Given the description of an element on the screen output the (x, y) to click on. 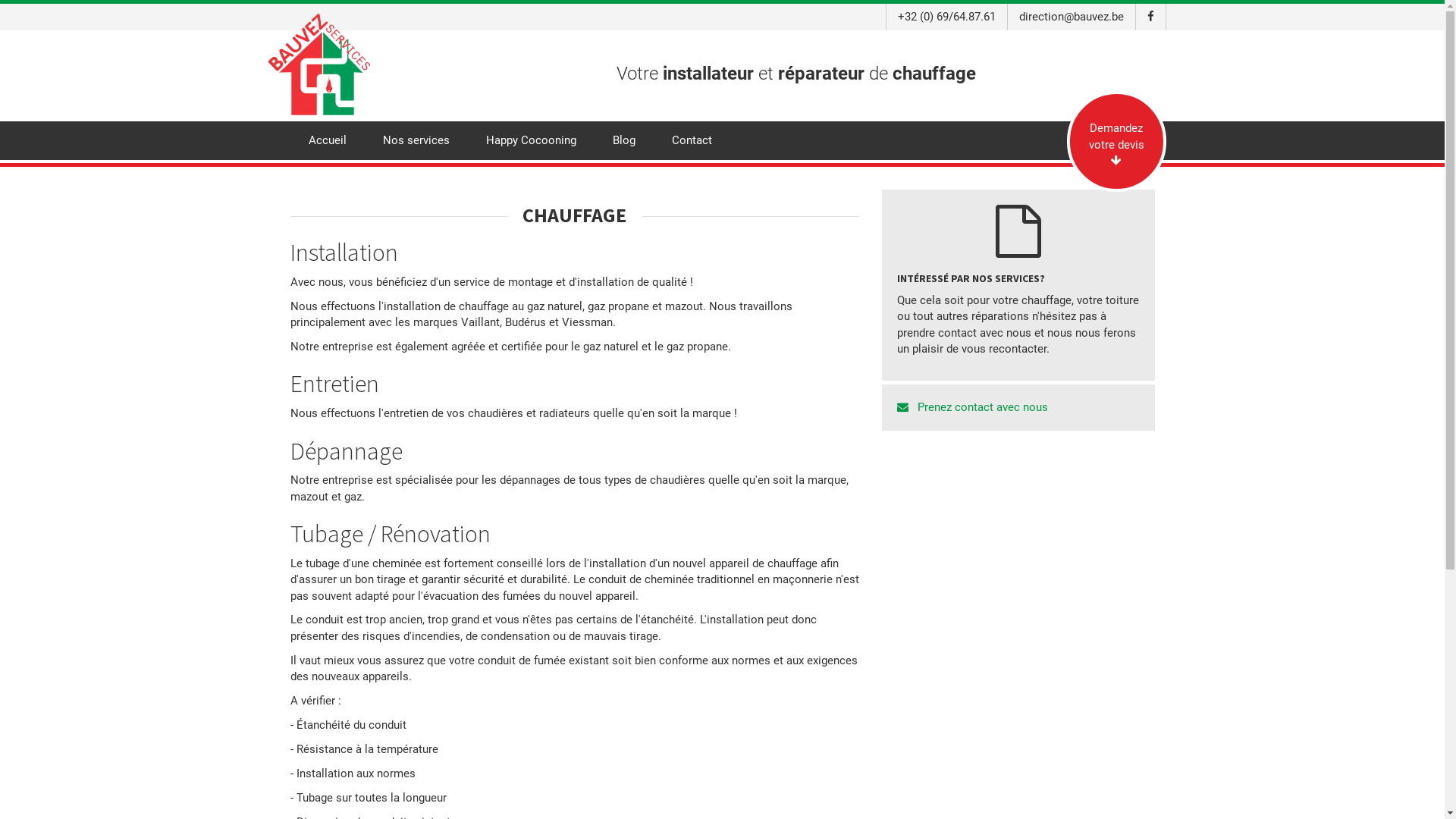
Accueil Element type: text (326, 140)
Nos services Element type: text (415, 140)
Contact Element type: text (691, 140)
Happy Cocooning Element type: text (530, 140)
Prenez contact avec nous Element type: text (1017, 407)
+32 (0) 69/64.87.61 Element type: text (946, 16)
Blog Element type: text (623, 140)
Demandez
votre devis Element type: text (1115, 141)
direction@bauvez.be Element type: text (1071, 16)
